Given the description of an element on the screen output the (x, y) to click on. 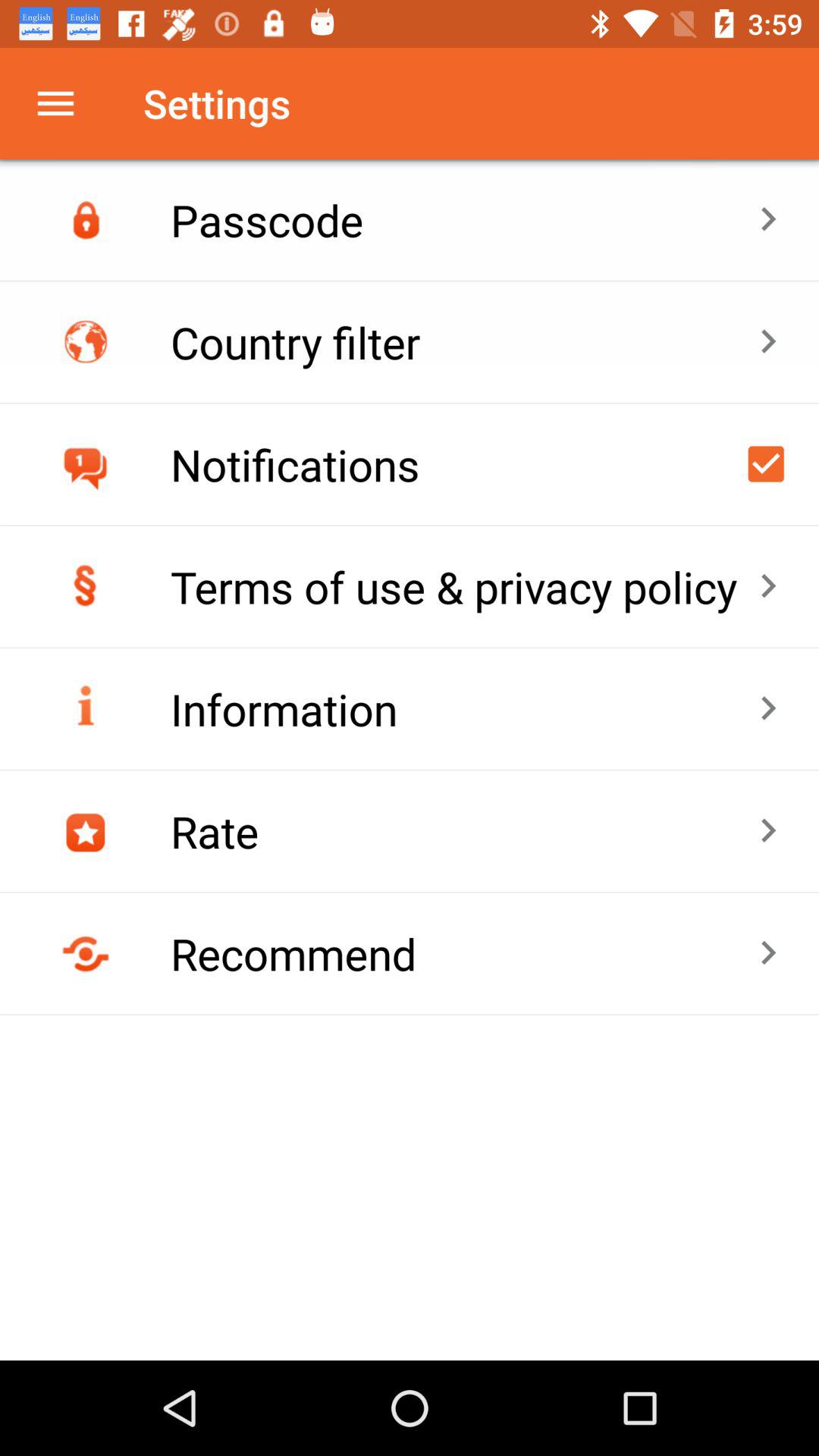
enable/disable notifications (765, 463)
